Given the description of an element on the screen output the (x, y) to click on. 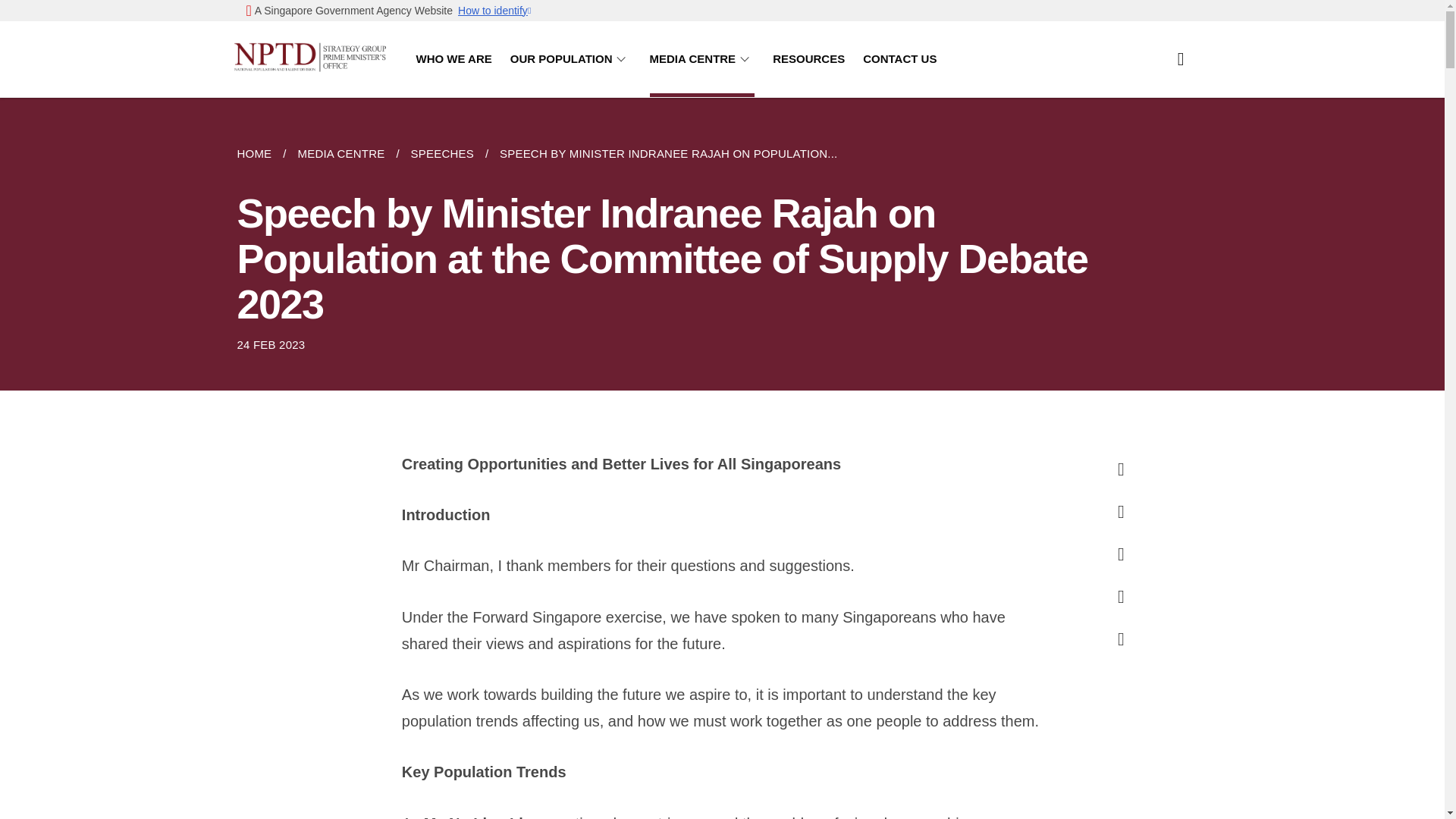
RESOURCES (808, 59)
HOME (258, 153)
OUR POPULATION (571, 59)
MEDIA CENTRE (702, 59)
MEDIA CENTRE (340, 153)
SPEECH BY MINISTER INDRANEE RAJAH ON POPULATION... (667, 153)
WHO WE ARE (453, 59)
SPEECHES (441, 153)
CONTACT US (899, 59)
